Given the description of an element on the screen output the (x, y) to click on. 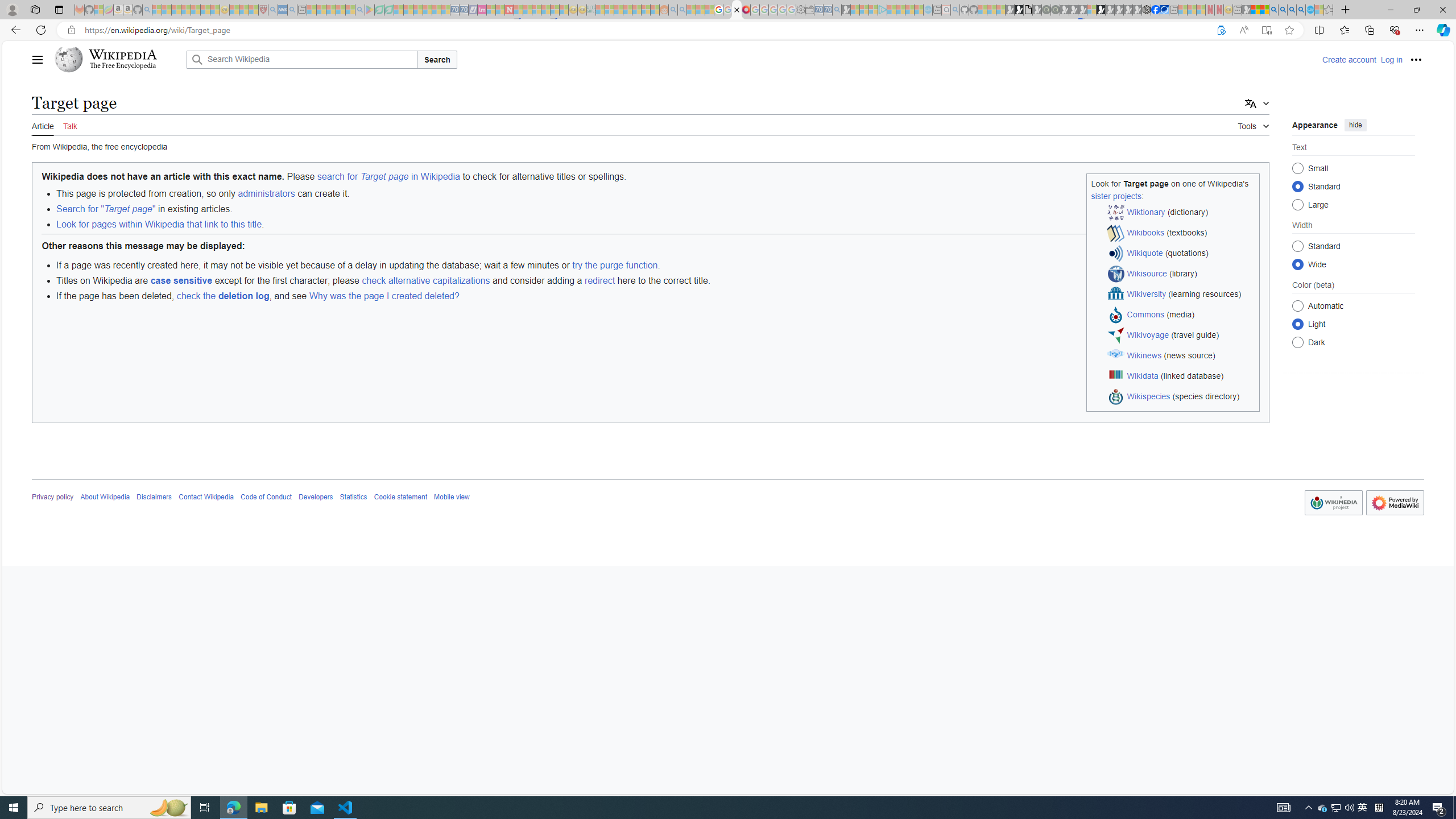
Privacy policy (53, 497)
Log in (1391, 58)
Wide (1297, 263)
Light (1297, 323)
Talk (69, 124)
